Given the description of an element on the screen output the (x, y) to click on. 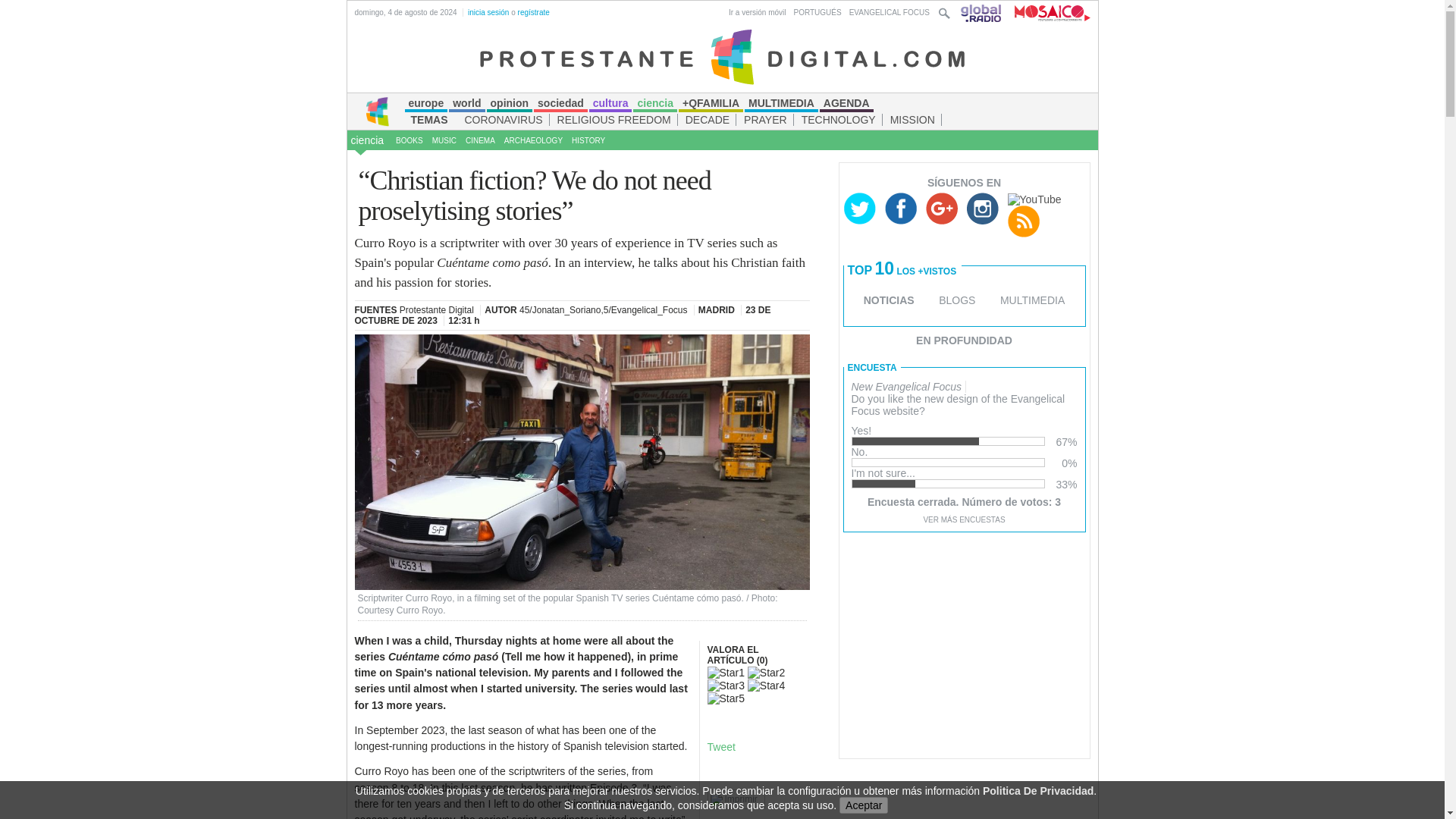
ciencia (367, 140)
